Given the description of an element on the screen output the (x, y) to click on. 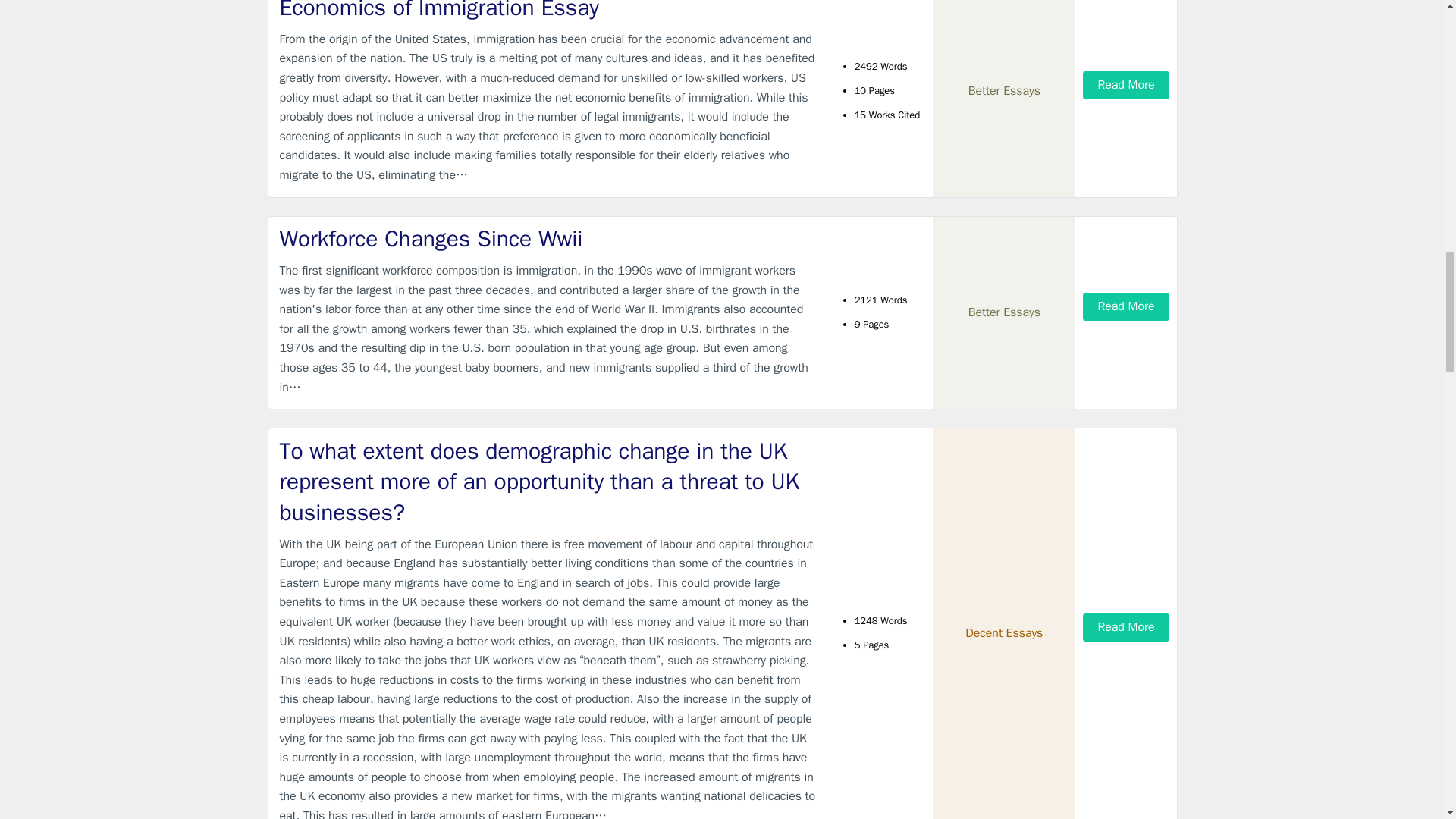
Economics of Immigration Essay (548, 11)
Read More (1126, 306)
Read More (1126, 627)
Read More (1126, 85)
Workforce Changes Since Wwii (548, 238)
